Given the description of an element on the screen output the (x, y) to click on. 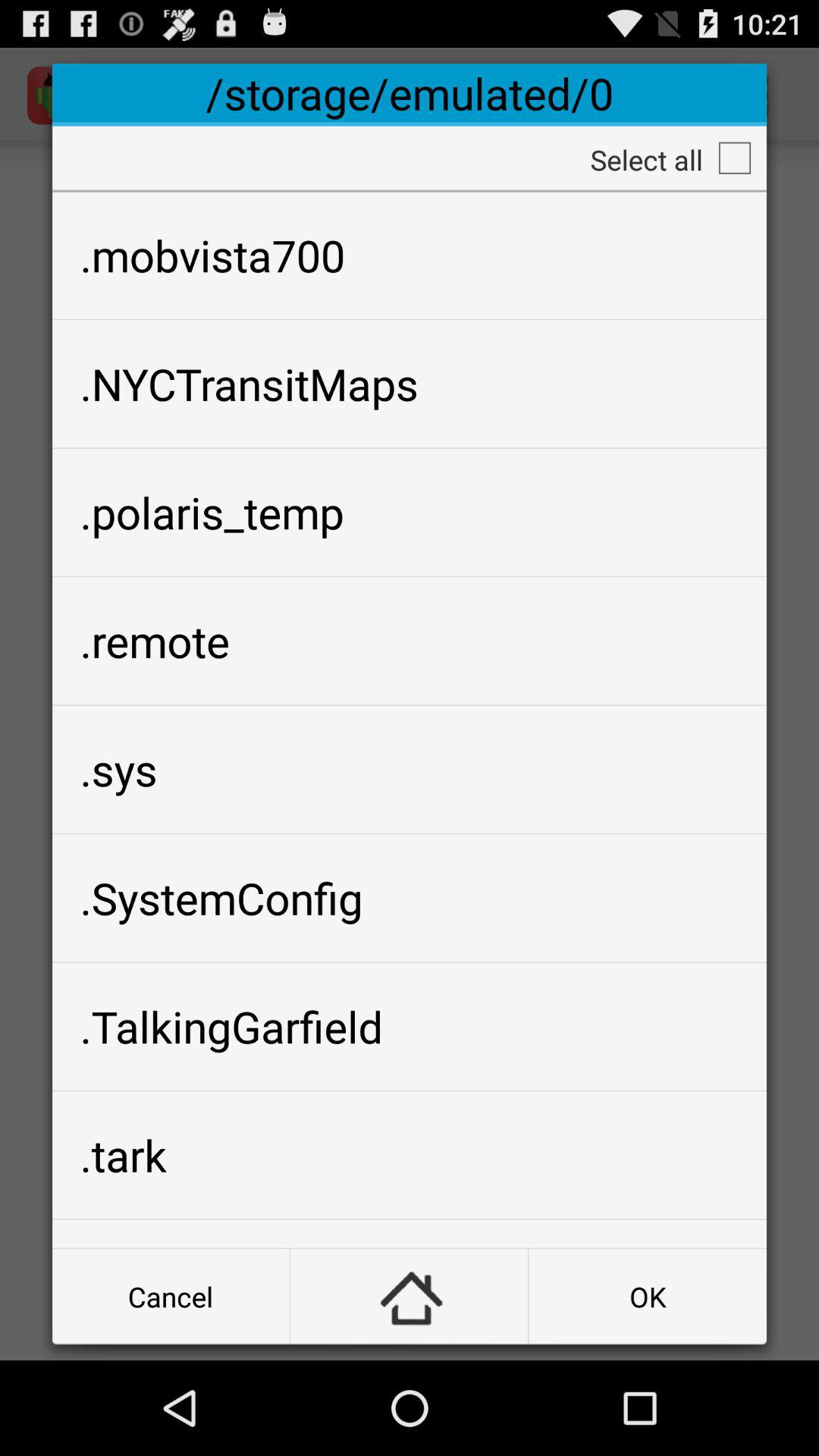
turn on item next to select all (734, 157)
